Given the description of an element on the screen output the (x, y) to click on. 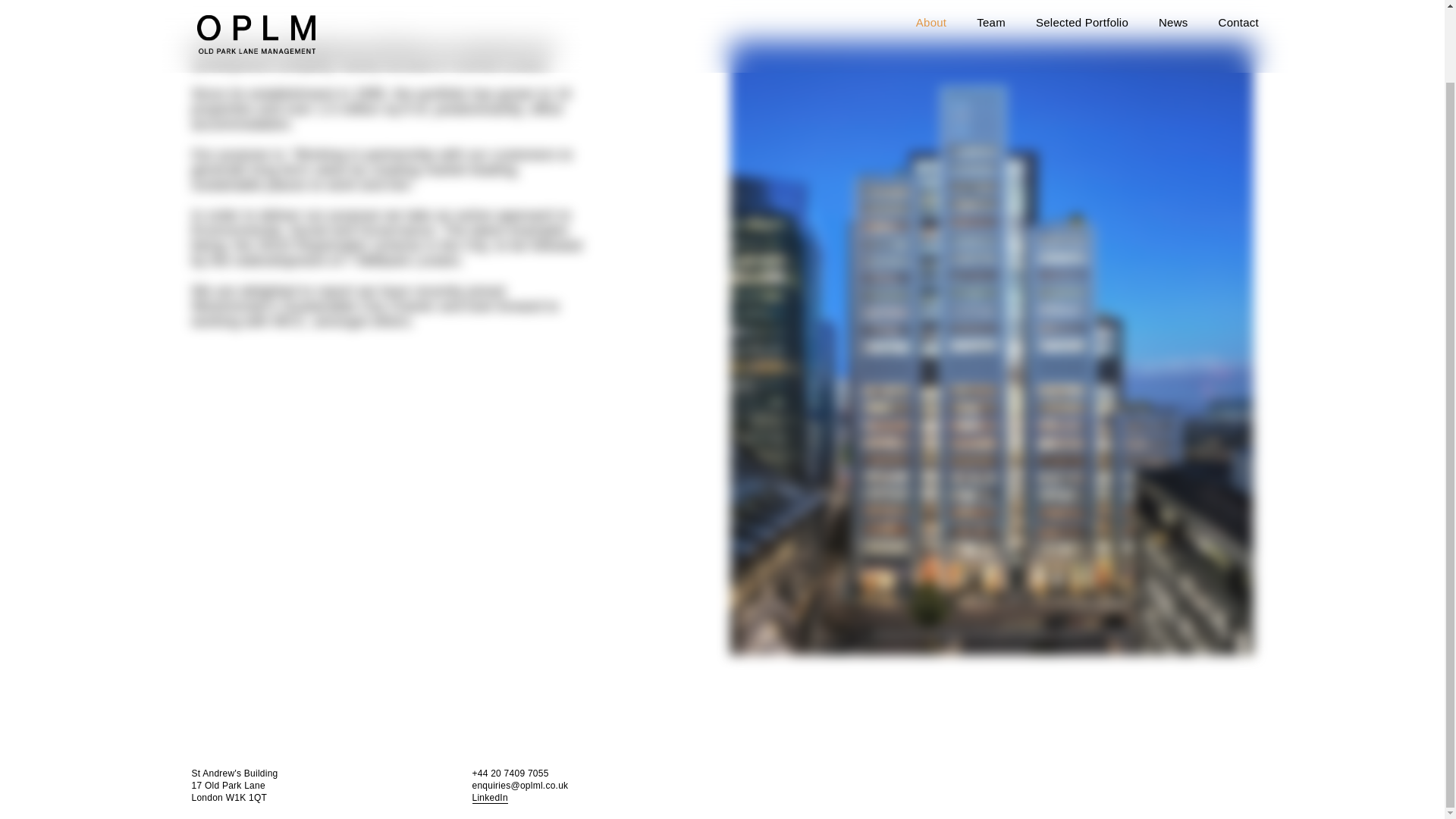
LinkedIn (488, 797)
